Given the description of an element on the screen output the (x, y) to click on. 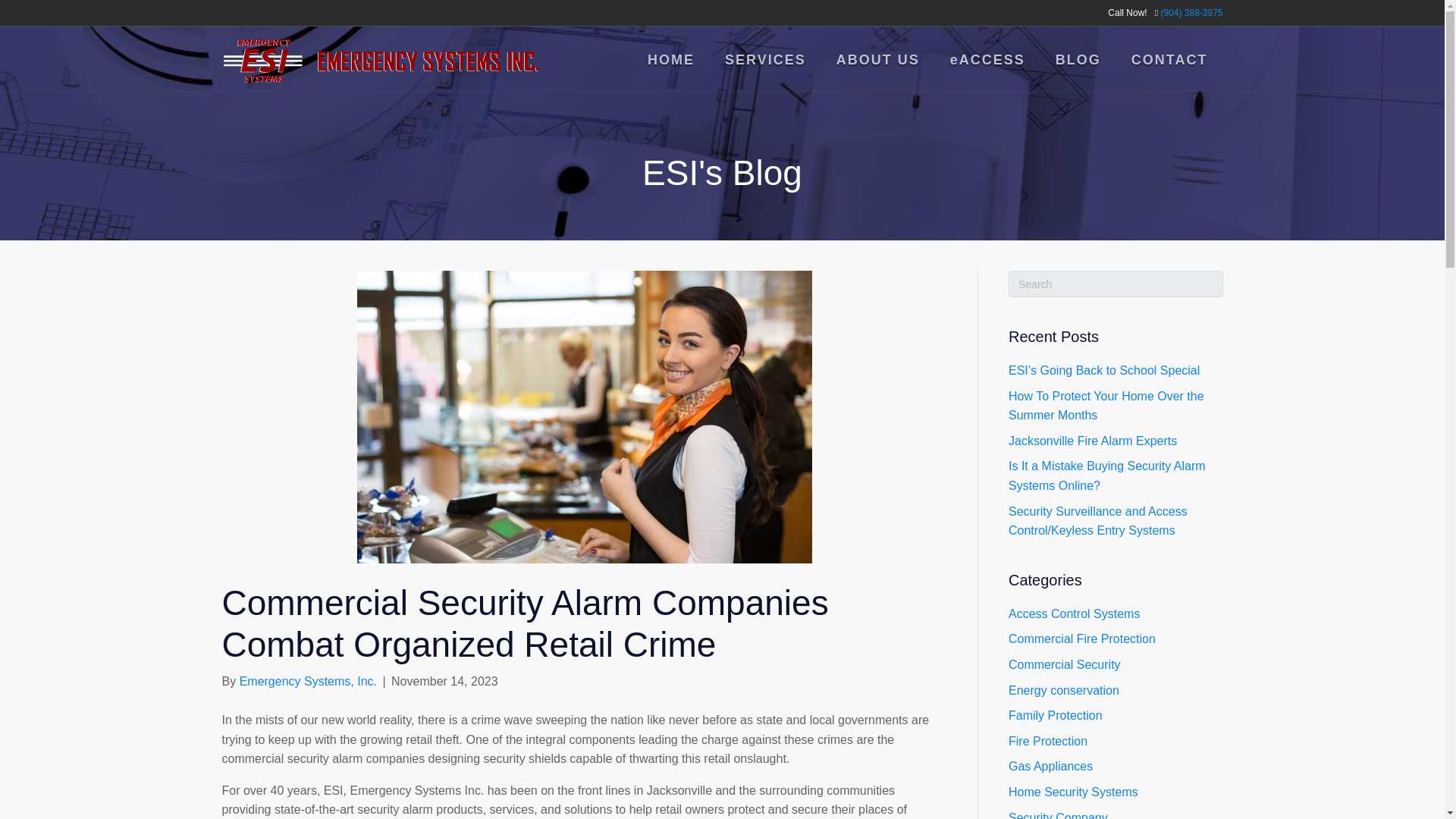
SERVICES (765, 60)
HOME (670, 60)
Type and press Enter to search. (1116, 284)
